Given the description of an element on the screen output the (x, y) to click on. 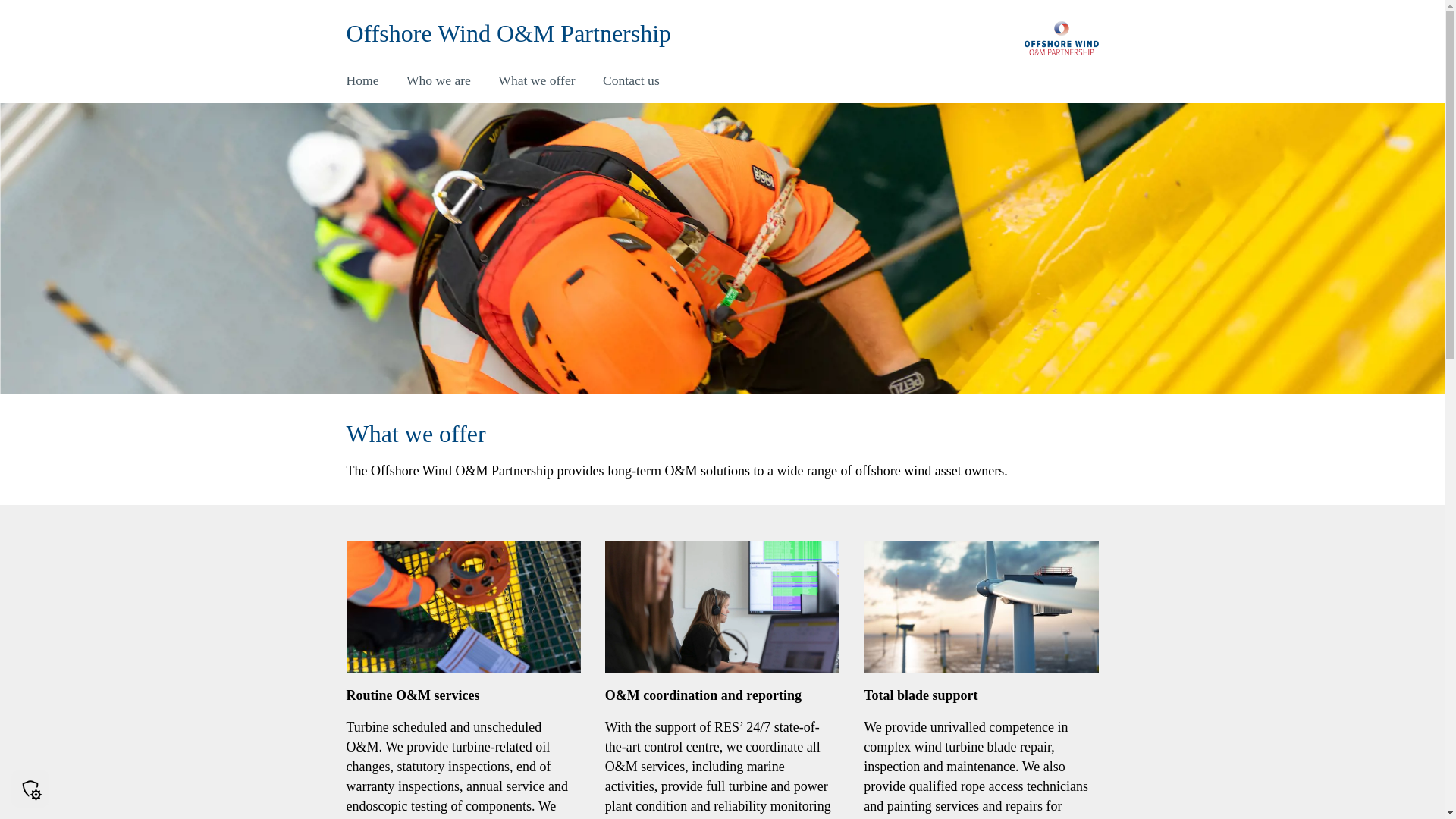
Who we are (438, 79)
What we offer (536, 79)
Contact us (630, 79)
Home (362, 79)
